Given the description of an element on the screen output the (x, y) to click on. 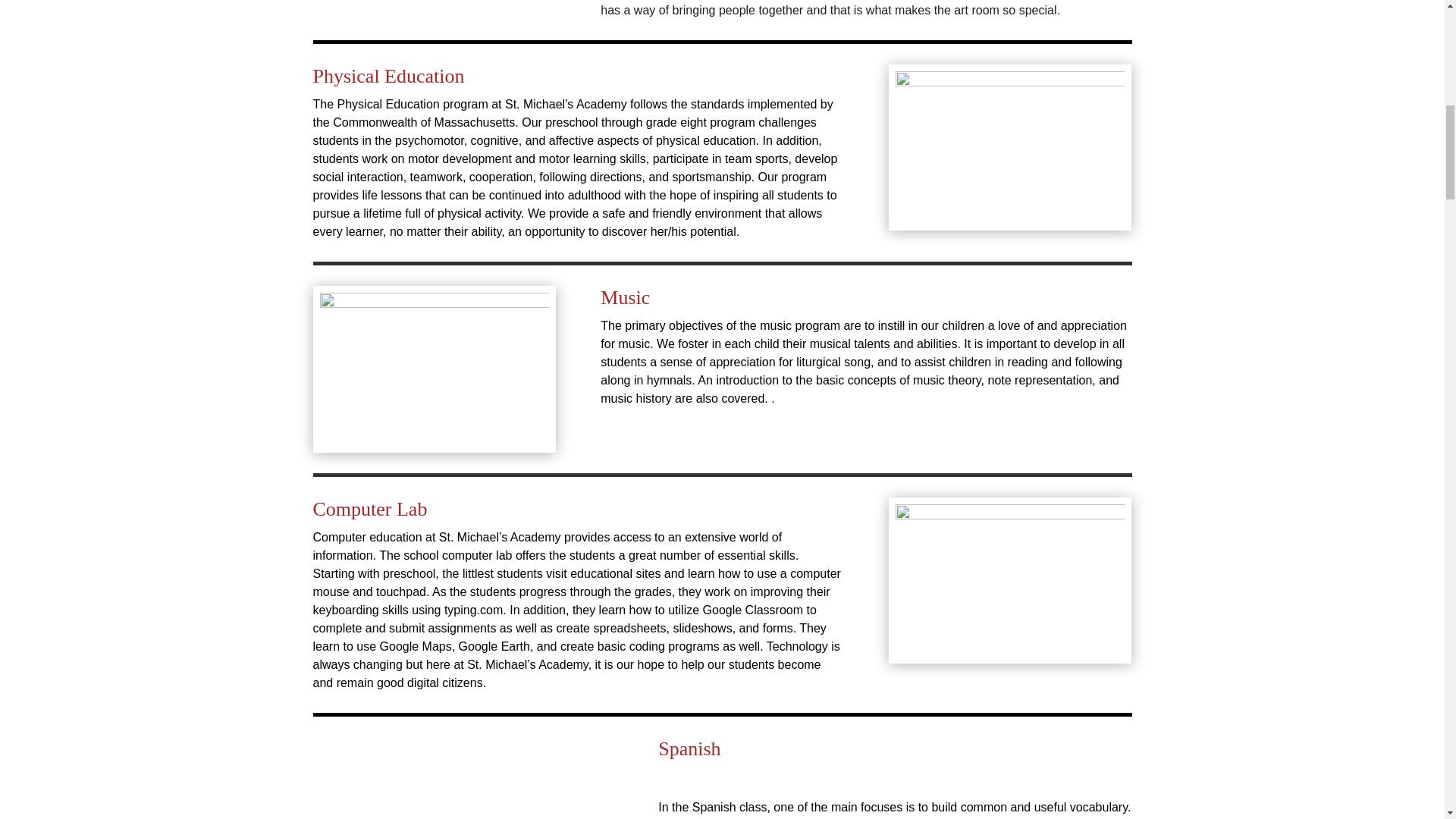
20220112-SMA-0398 (1009, 147)
1st Grade Spanish (462, 778)
20220112-SMA-0862 (1009, 579)
